Given the description of an element on the screen output the (x, y) to click on. 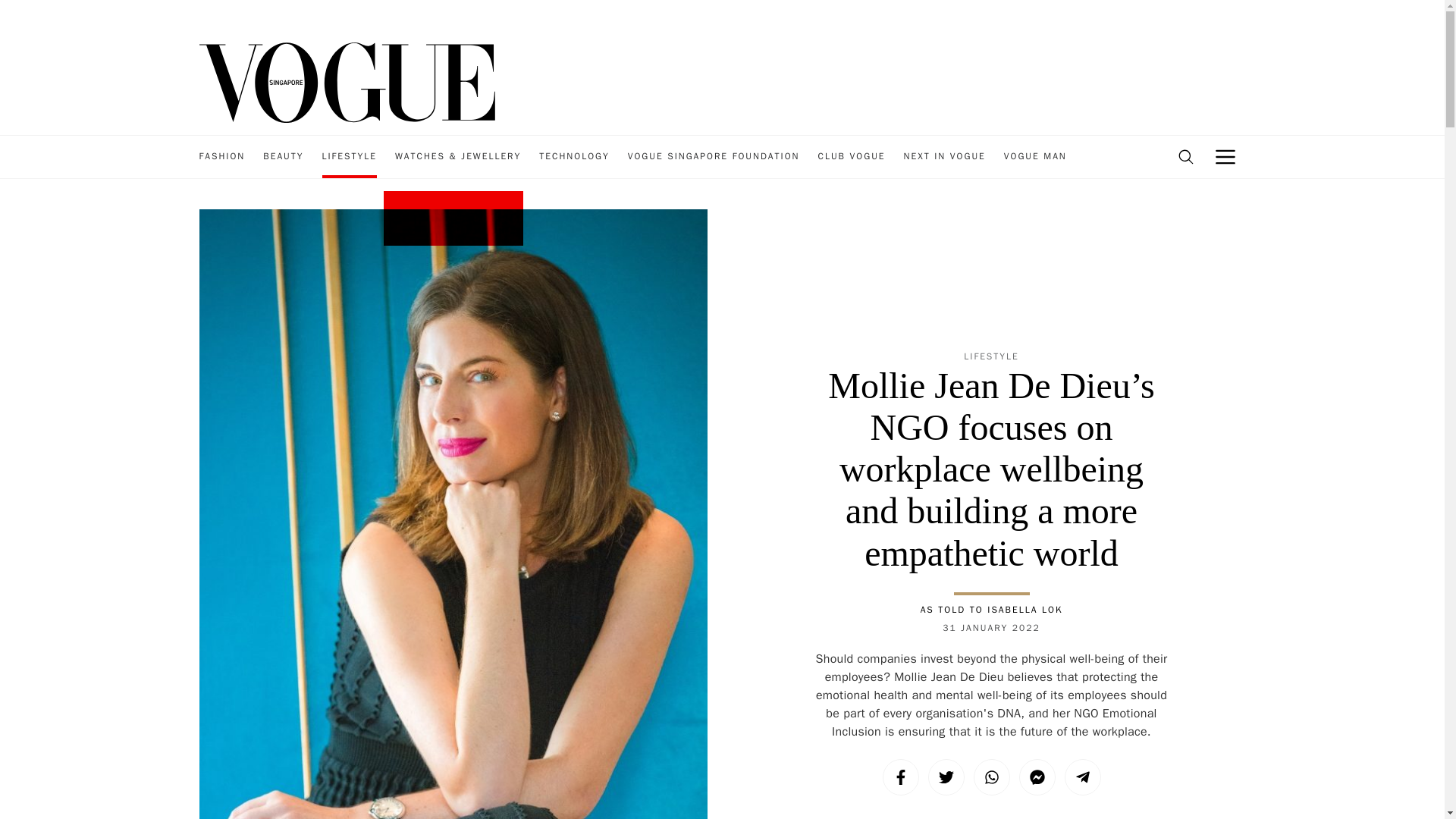
BEAUTY (282, 156)
ISABELLA LOK (1024, 609)
Open Menu (1224, 156)
Vogue Singapore (346, 81)
LIFESTYLE (348, 156)
TECHNOLOGY (573, 156)
Facebook (900, 777)
VOGUE MAN (1035, 156)
Telegram (1082, 777)
Facebook Messender (1037, 777)
